Given the description of an element on the screen output the (x, y) to click on. 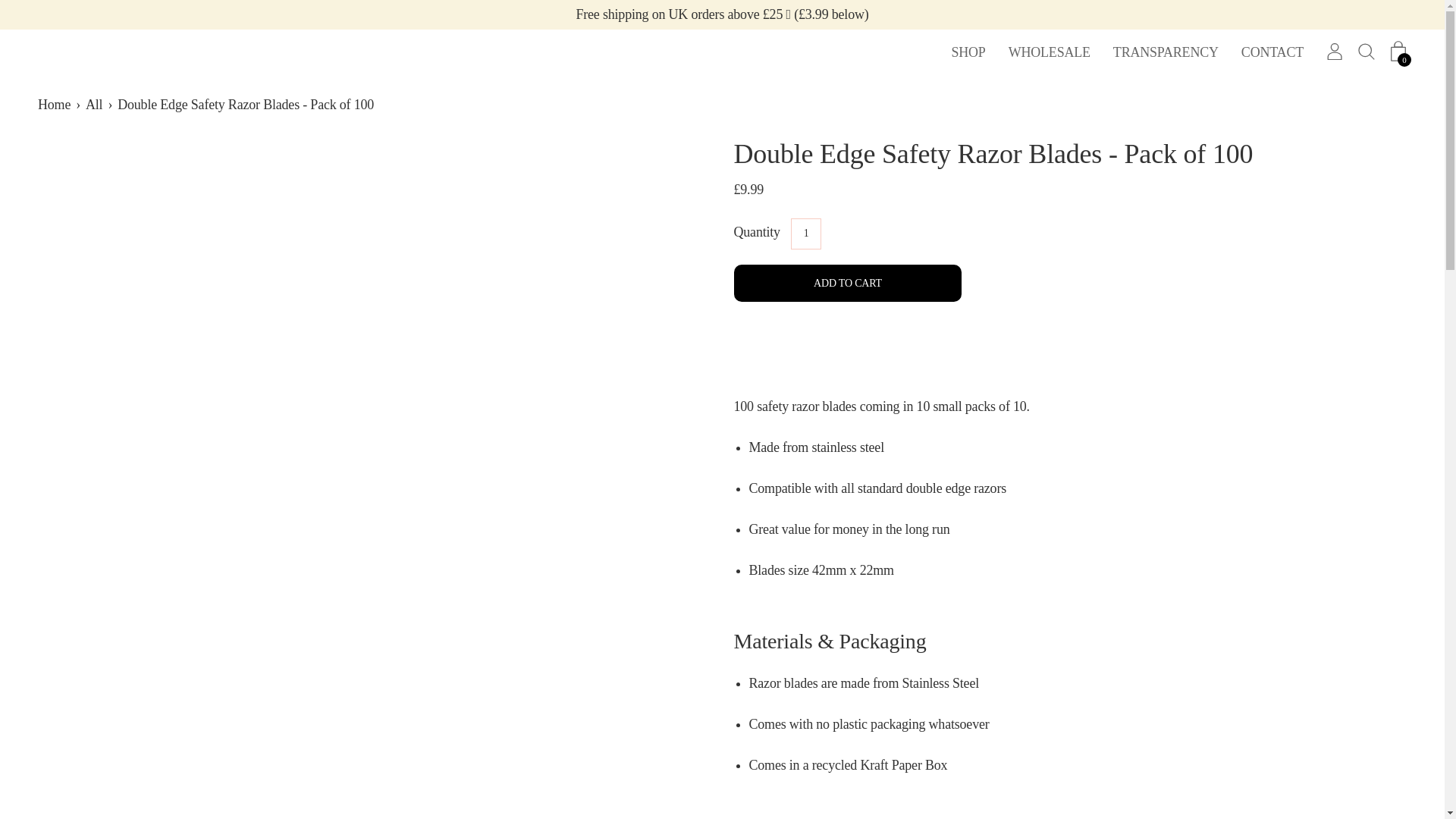
Home (56, 105)
0 (1398, 51)
CONTACT (1272, 51)
Go back to Home page (56, 105)
All (96, 105)
SHOP (967, 51)
1 (805, 233)
WHOLESALE (1049, 51)
TRANSPARENCY (1165, 51)
ADD TO CART (846, 283)
